Given the description of an element on the screen output the (x, y) to click on. 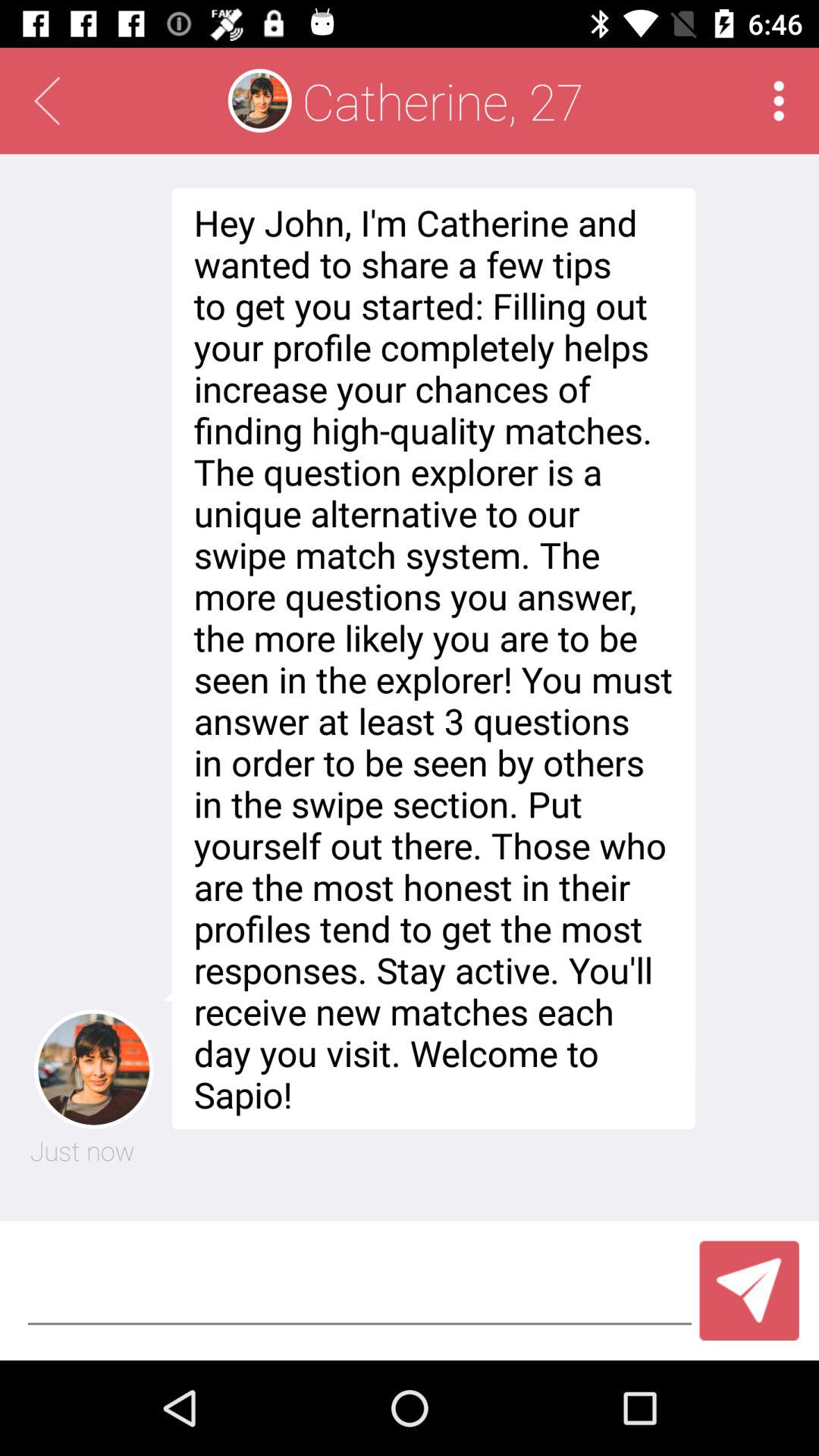
turn on the item to the left of hey john i icon (82, 1150)
